Given the description of an element on the screen output the (x, y) to click on. 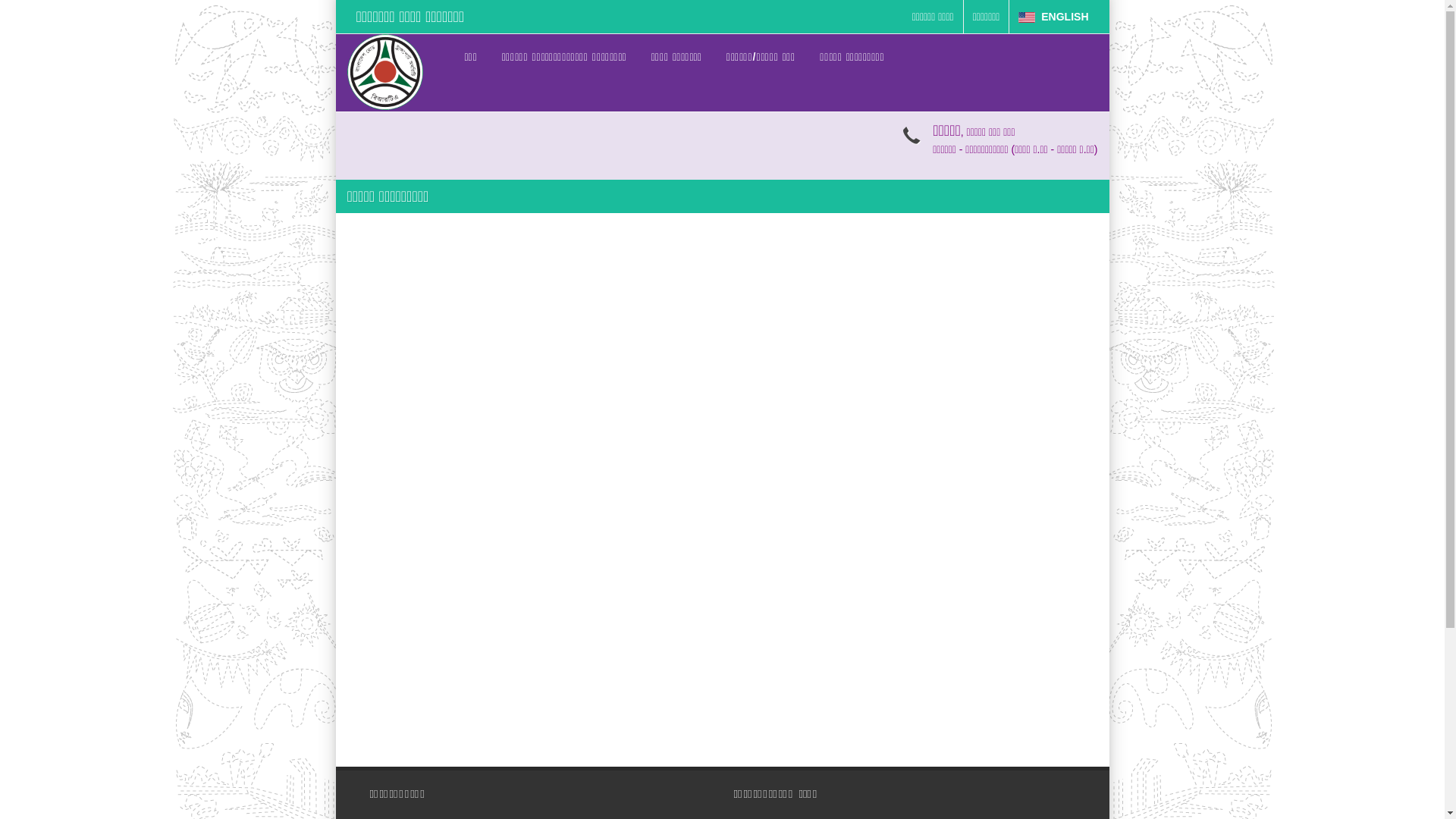
  ENGLISH Element type: text (1053, 16)
